Given the description of an element on the screen output the (x, y) to click on. 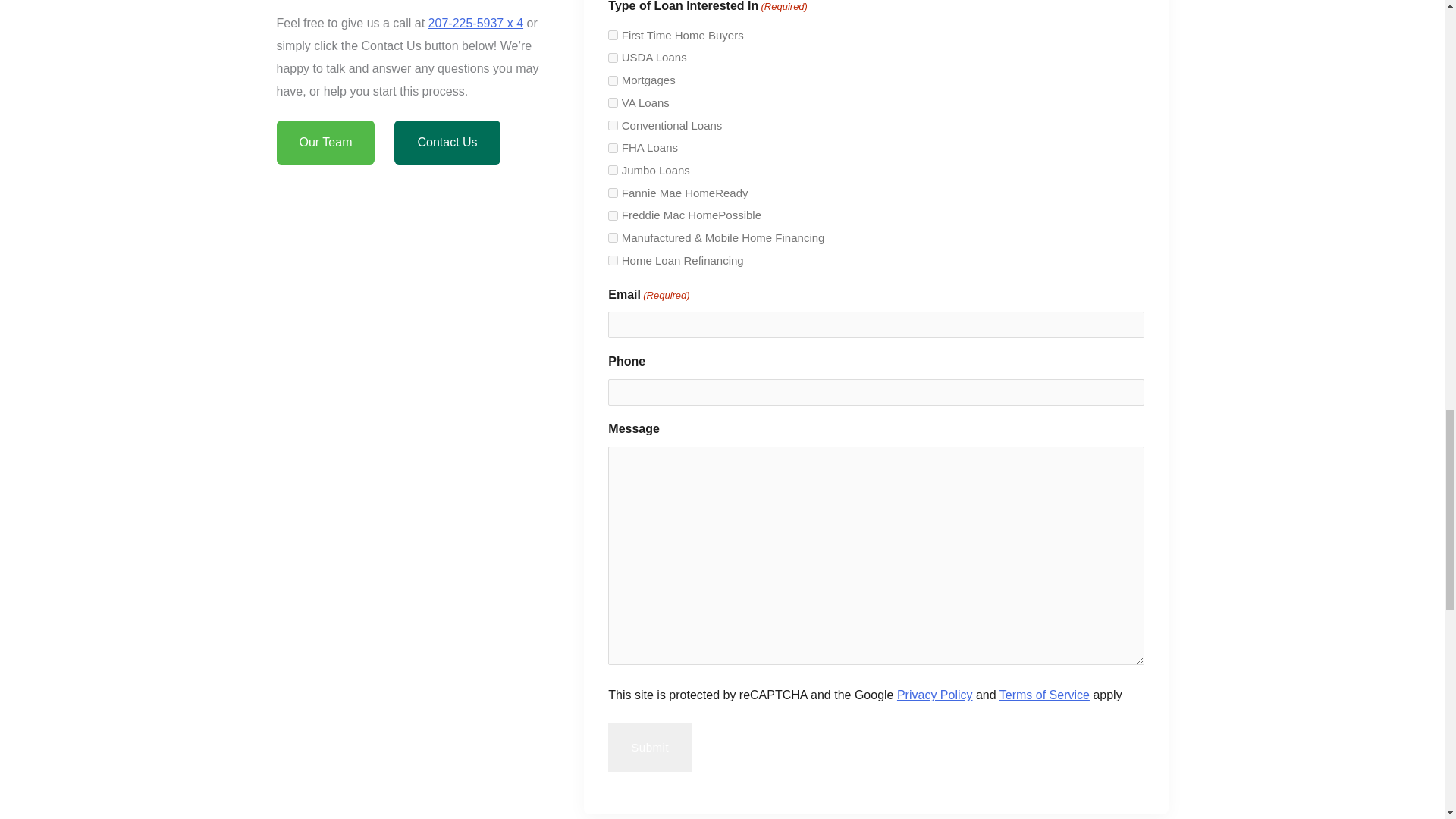
Fannie Mae HomeReady (612, 193)
Conventional Loans (612, 125)
Contact Us (446, 142)
Submit (649, 747)
Jumbo Loans (612, 170)
VA Loans (612, 102)
USDA Loans (612, 58)
207-225-5937 x 4 (475, 22)
First Time Home Buyers (612, 35)
Home Loan Refinancing (612, 260)
Privacy Policy (934, 694)
FHA Loans (612, 148)
Our Team (325, 142)
Mortgages (612, 80)
Freddie Mac HomePossible (612, 215)
